Given the description of an element on the screen output the (x, y) to click on. 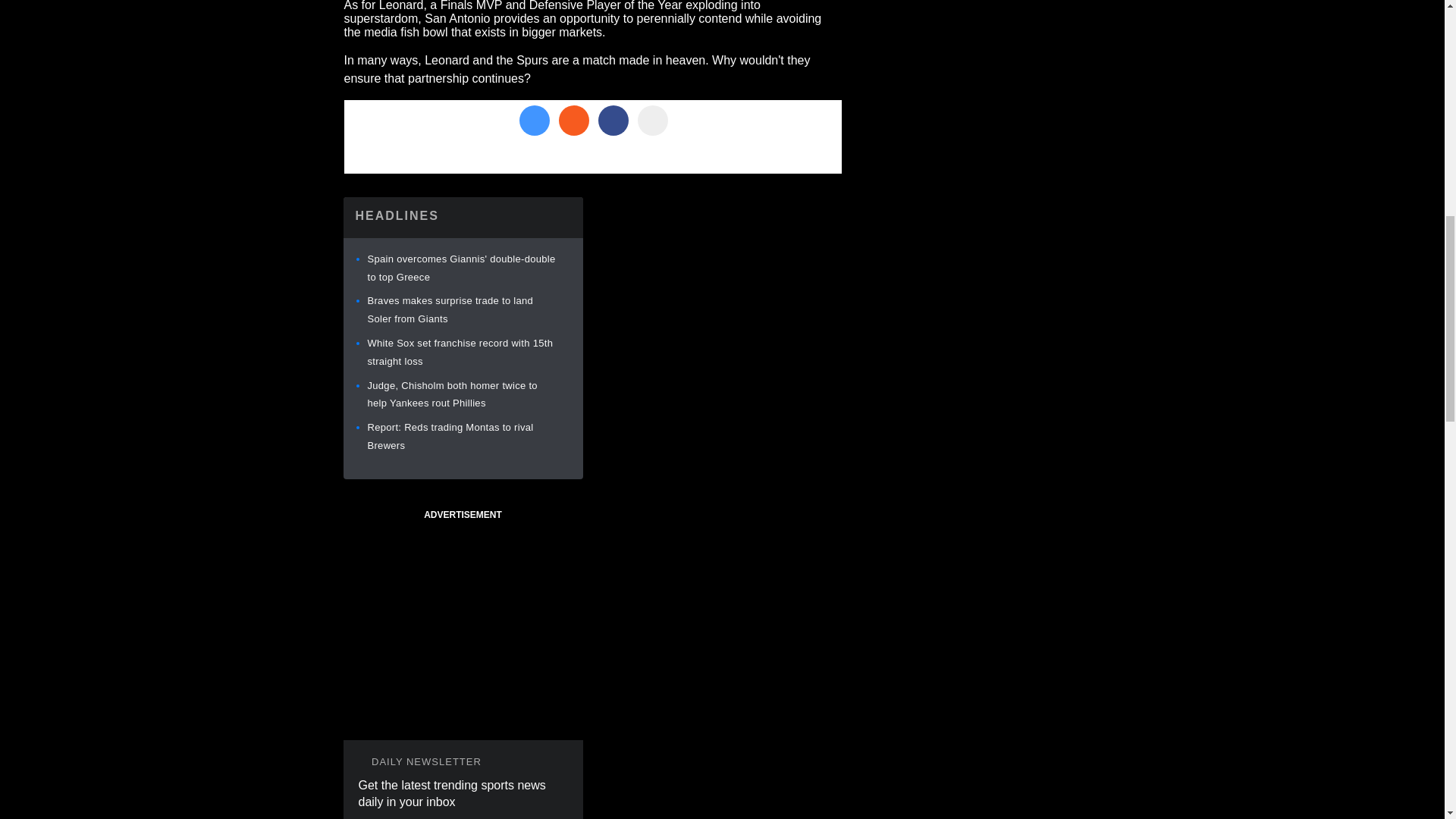
Email (651, 120)
White Sox set franchise record with 15th straight loss (459, 351)
Twitter (533, 120)
Braves makes surprise trade to land Soler from Giants (449, 309)
Spain overcomes Giannis' double-double to top Greece (460, 267)
Facebook (611, 120)
Reddit (572, 120)
Report: Reds trading Montas to rival Brewers (449, 436)
